Given the description of an element on the screen output the (x, y) to click on. 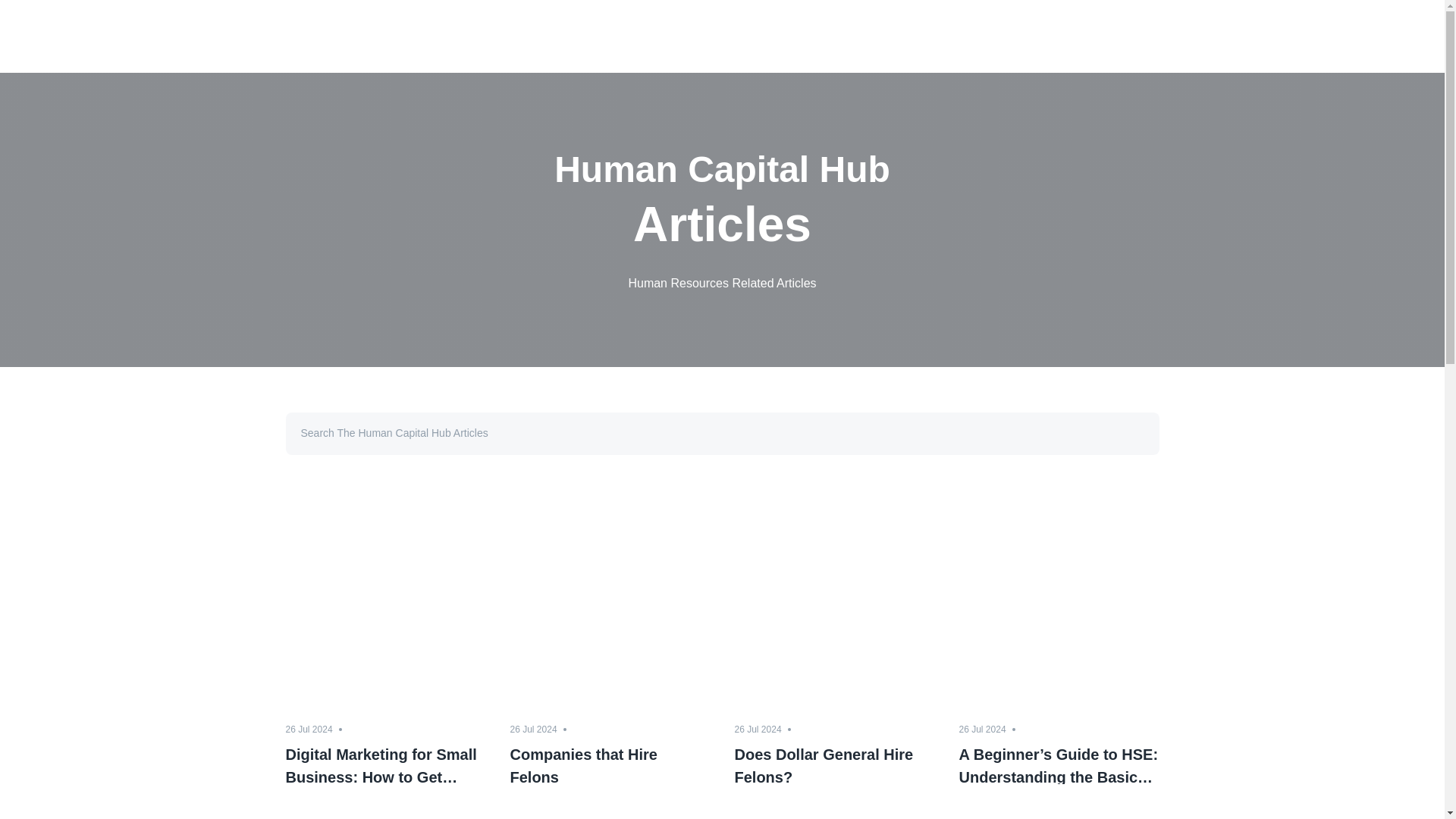
Does Dollar General Hire Felons? (833, 762)
Companies that Hire Felons (609, 762)
Digital Marketing for Small Business: How to Get Started (384, 762)
